Given the description of an element on the screen output the (x, y) to click on. 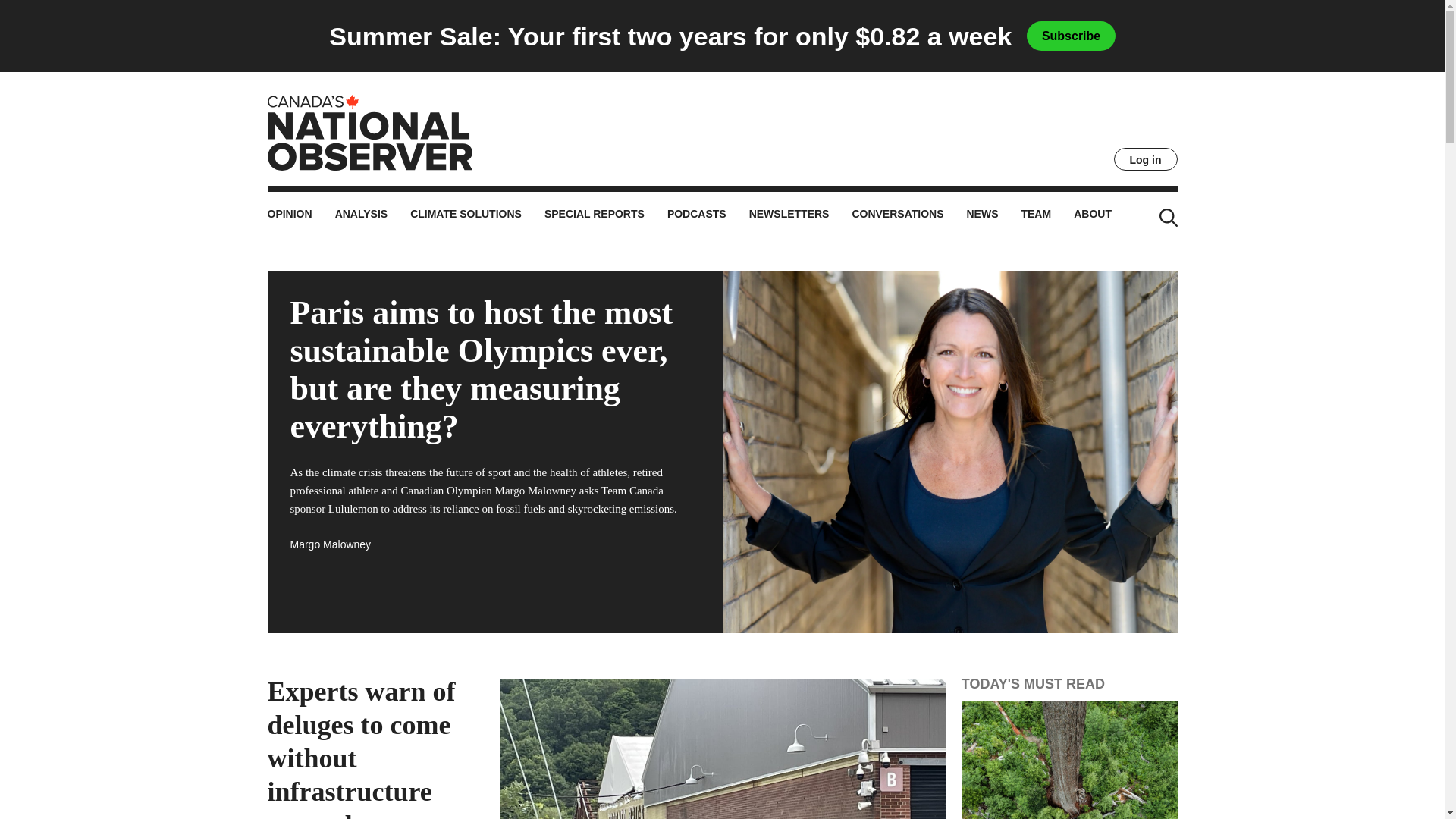
SPECIAL REPORTS (594, 215)
NEWSLETTERS (789, 215)
Opinion (288, 215)
Margo Malowney (330, 544)
Conversations (897, 215)
Newsletters (789, 215)
Special reports (594, 215)
PODCASTS (696, 215)
NEWS (981, 215)
Analysis (361, 215)
Log in (1145, 159)
ABOUT (1093, 215)
Climate Solutions (465, 215)
CLIMATE SOLUTIONS (465, 215)
